Given the description of an element on the screen output the (x, y) to click on. 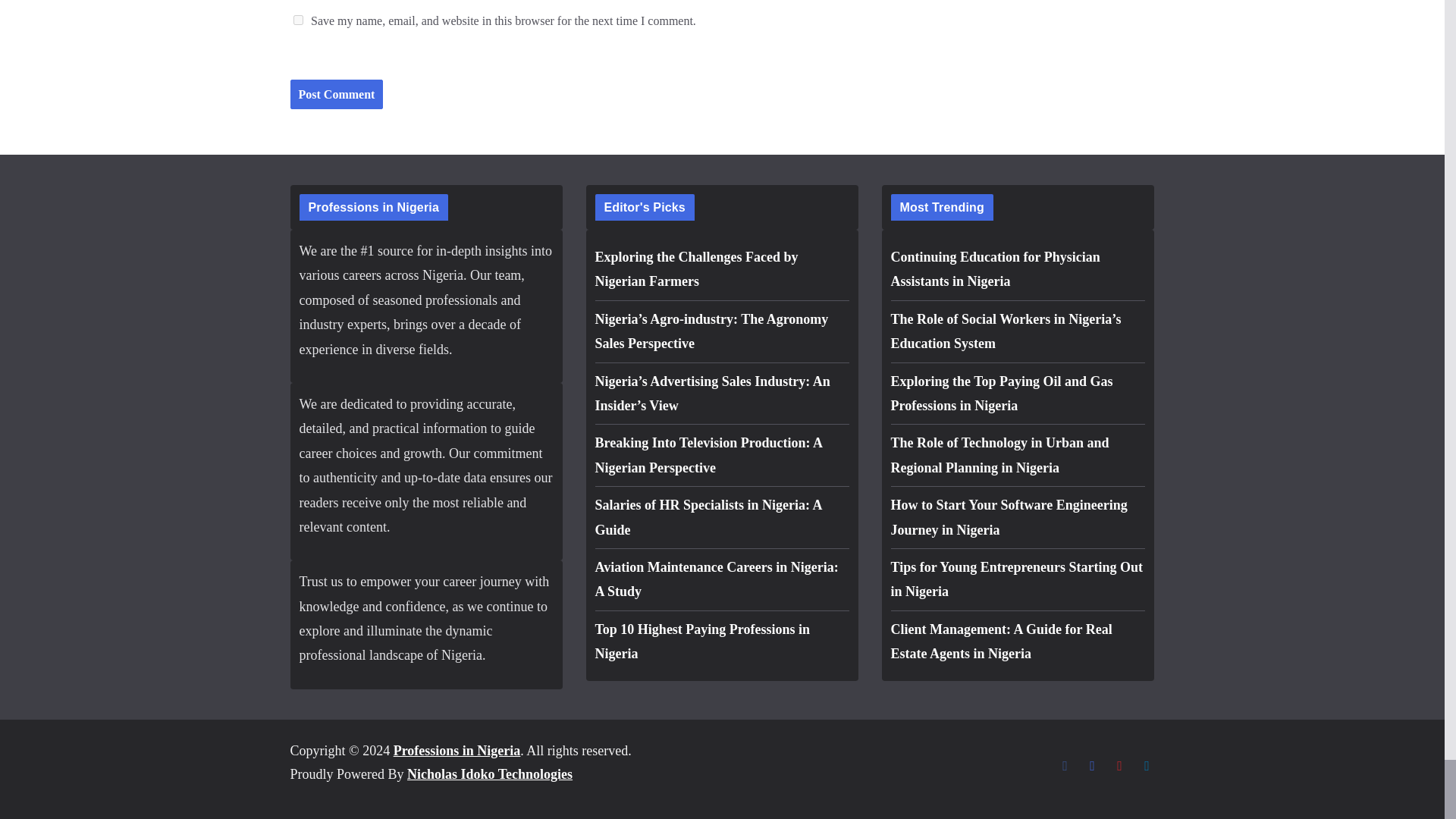
yes (297, 20)
Post Comment (335, 94)
